Given the description of an element on the screen output the (x, y) to click on. 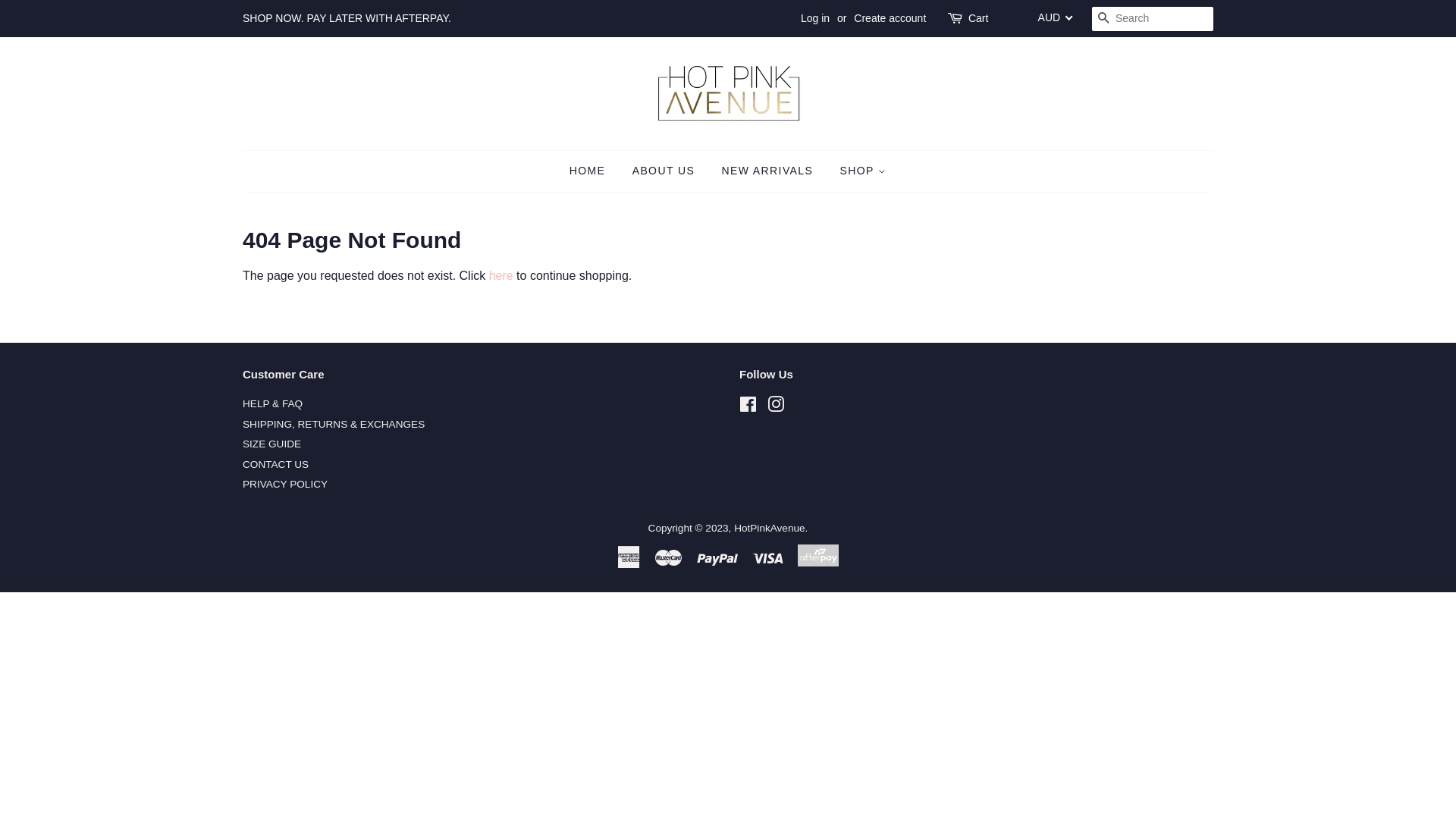
NEW ARRIVALS Element type: text (766, 170)
HELP & FAQ Element type: text (272, 403)
Instagram Element type: text (775, 407)
Create account Element type: text (889, 18)
Cart Element type: text (978, 18)
SHIPPING, RETURNS & EXCHANGES Element type: text (333, 423)
here Element type: text (501, 275)
HotPinkAvenue Element type: text (769, 527)
Facebook Element type: text (747, 407)
SIZE GUIDE Element type: text (271, 443)
CONTACT US Element type: text (275, 464)
ABOUT US Element type: text (663, 170)
SHOP Element type: text (857, 170)
SEARCH Element type: text (1104, 18)
HOME Element type: text (593, 170)
Log in Element type: text (814, 18)
PRIVACY POLICY Element type: text (284, 483)
